Given the description of an element on the screen output the (x, y) to click on. 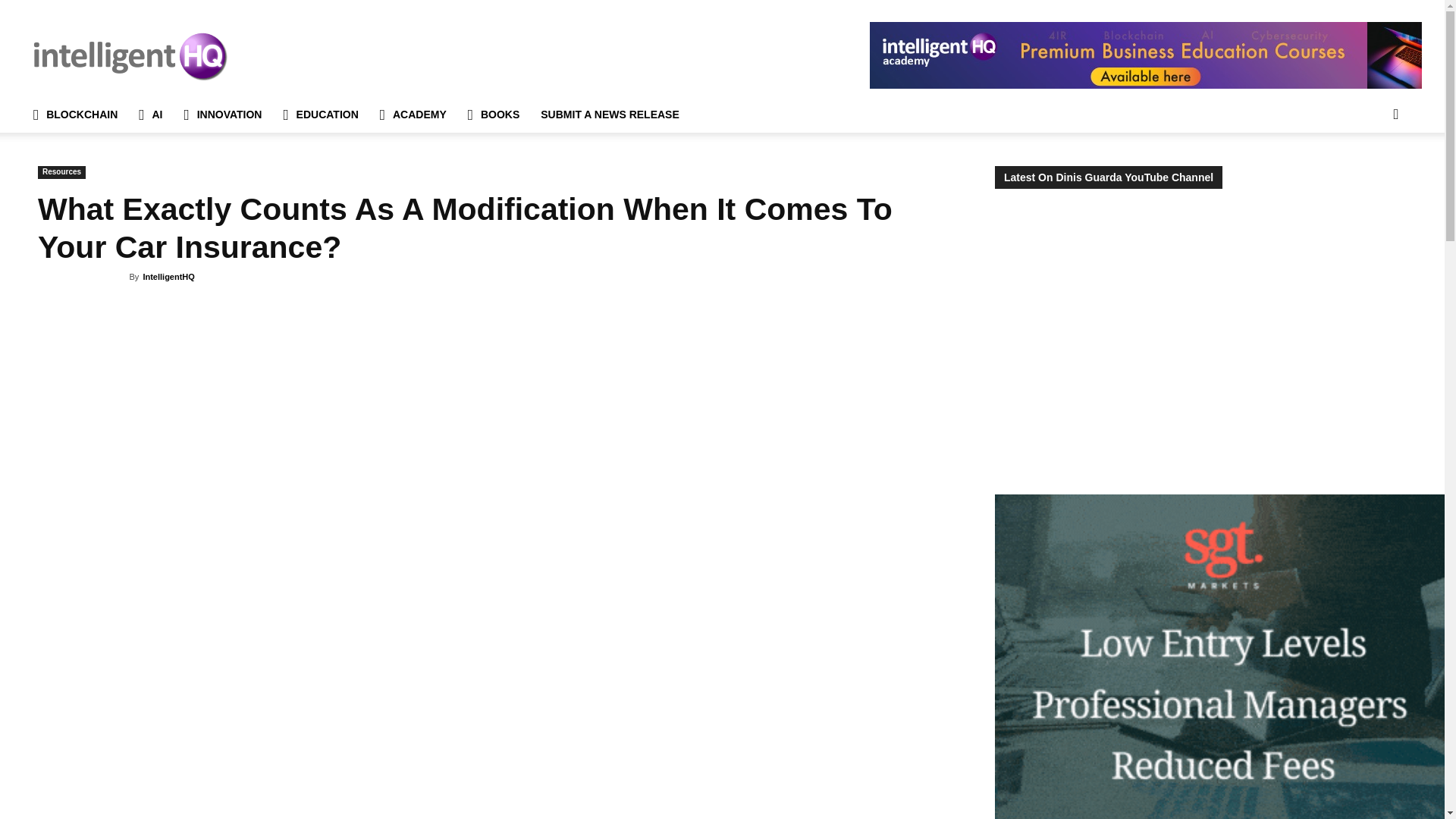
BLOCKCHAIN (75, 114)
